Given the description of an element on the screen output the (x, y) to click on. 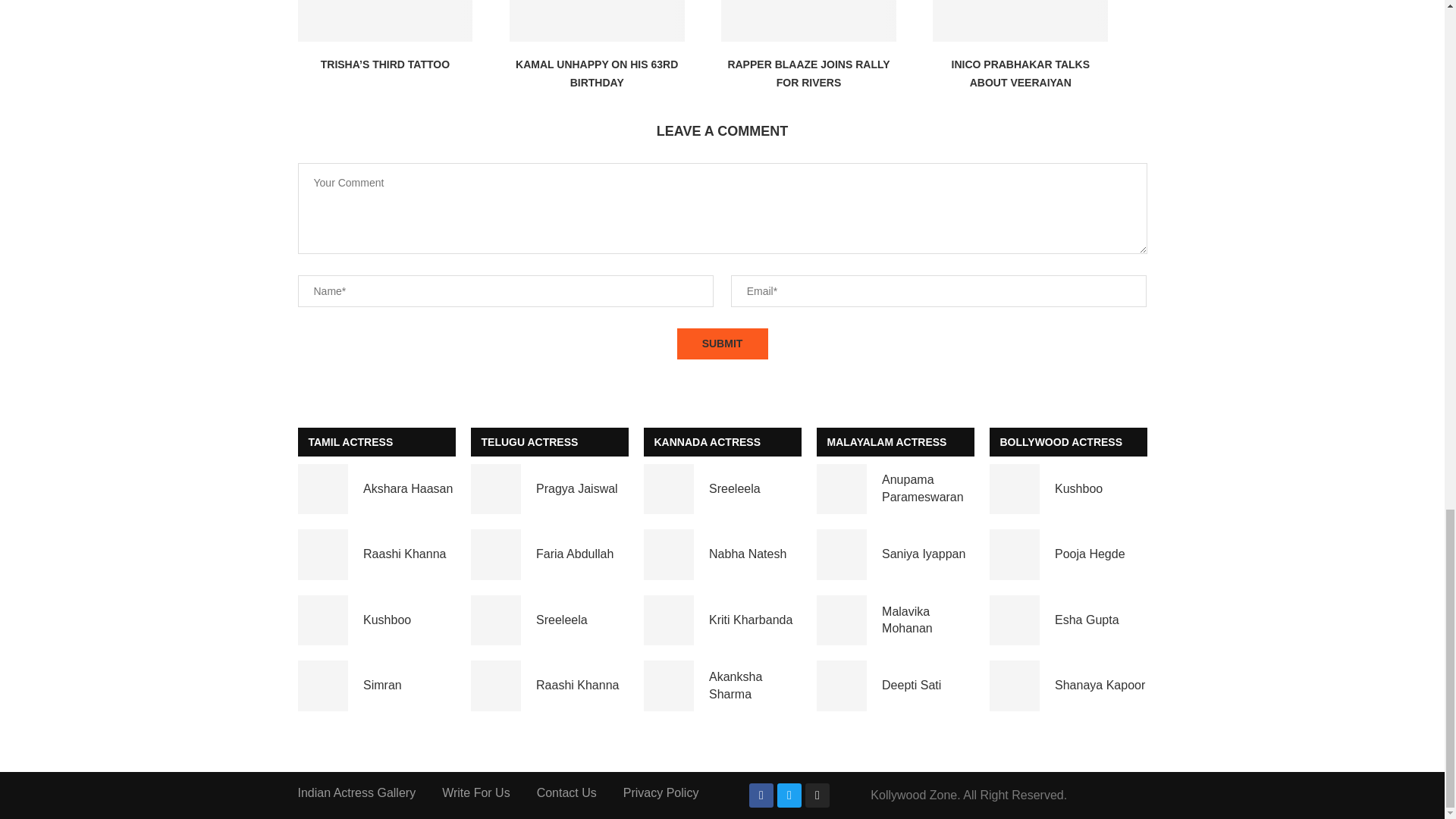
Simran (322, 685)
Inico Prabhakar talks about Veeraiyan (1020, 20)
Submit (722, 343)
Nabha Natesh (668, 554)
Kamal unhappy on his 63rd Birthday (596, 20)
Sreeleela (495, 620)
Raashi Khanna (495, 685)
Pragya Jaiswal (495, 489)
Akshara Haasan (322, 489)
Raashi Khanna (322, 554)
Sreeleela (668, 489)
Faria Abdullah (495, 554)
Rapper Blaaze Joins Rally for Rivers (808, 20)
Kushboo (322, 620)
